Given the description of an element on the screen output the (x, y) to click on. 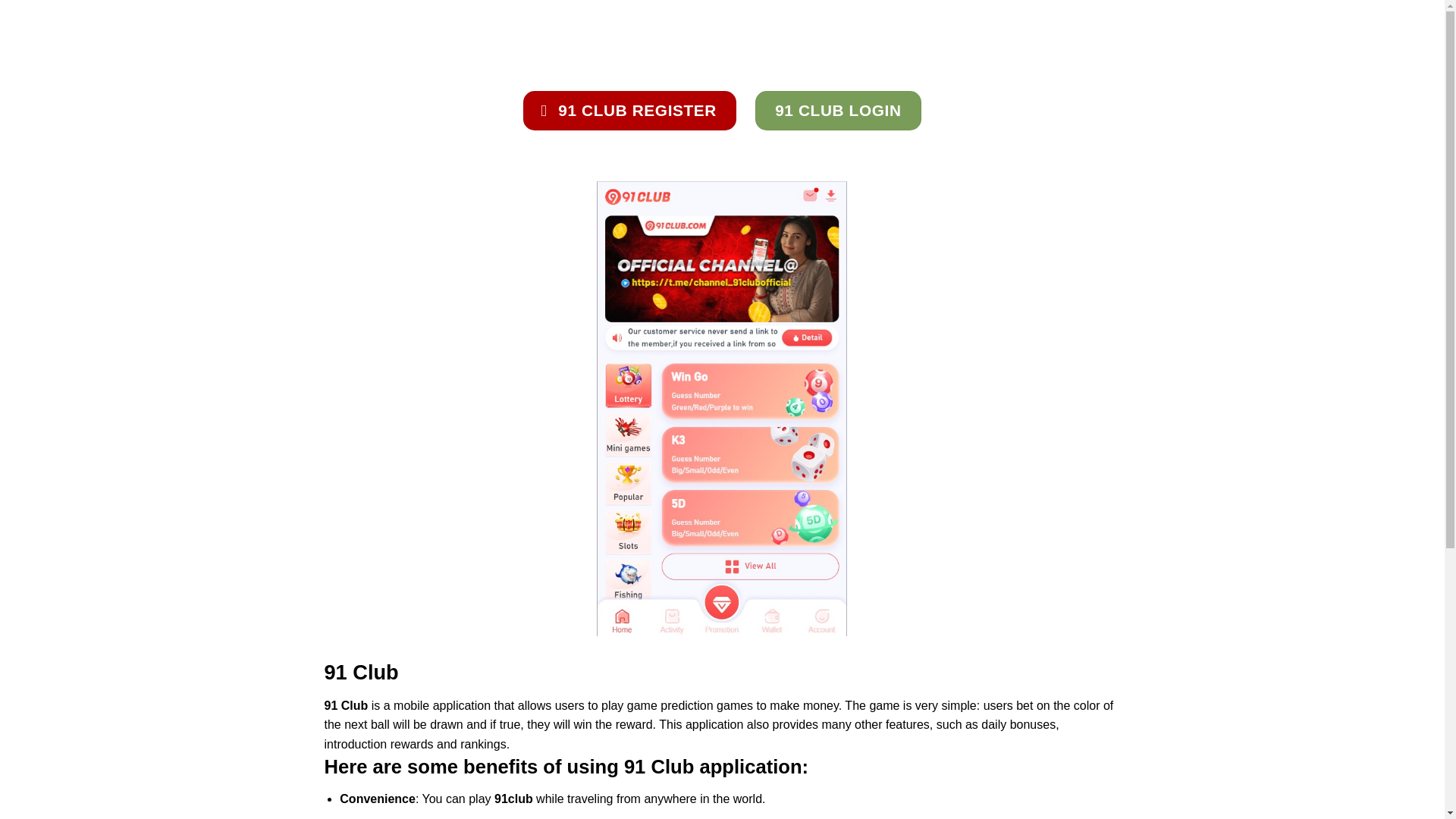
91 CLUB (400, 33)
91 CLUB REGISTER (629, 110)
91 CLUB LOGIN (837, 110)
91 Club (400, 33)
